Given the description of an element on the screen output the (x, y) to click on. 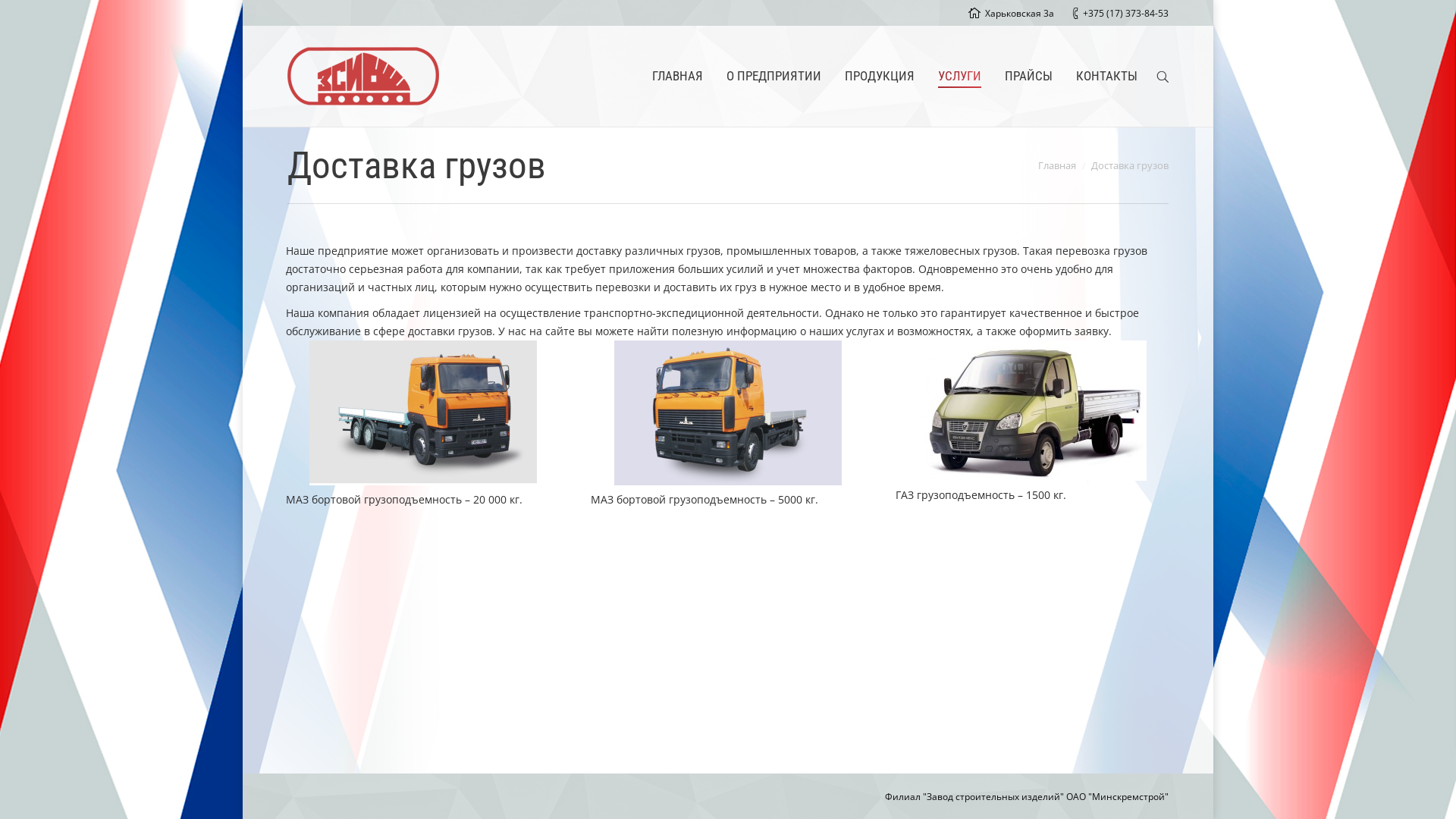
+375 (17) 373-84-53 Element type: text (1125, 12)
Go! Element type: text (17, 13)
  Element type: text (1162, 76)
